Given the description of an element on the screen output the (x, y) to click on. 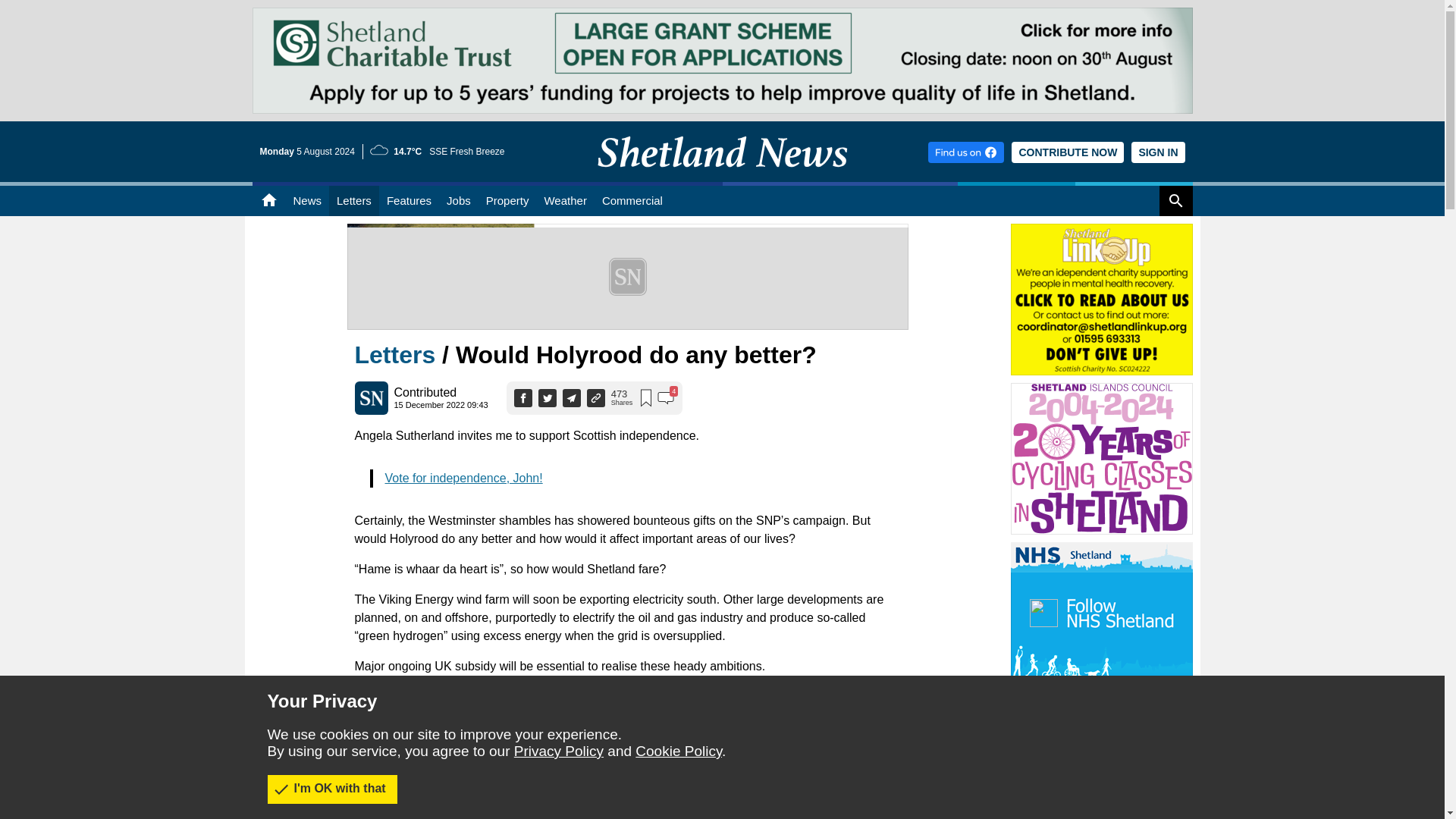
Support Shetland News (1067, 151)
Shetland News Login (1158, 151)
CONTRIBUTE NOW (1067, 151)
News (307, 200)
Home (268, 200)
Find us on Facebook (966, 151)
Shetland News Home (721, 177)
News (307, 200)
SCT - Large grant scheme open for applications (721, 13)
SIGN IN (1158, 151)
